Given the description of an element on the screen output the (x, y) to click on. 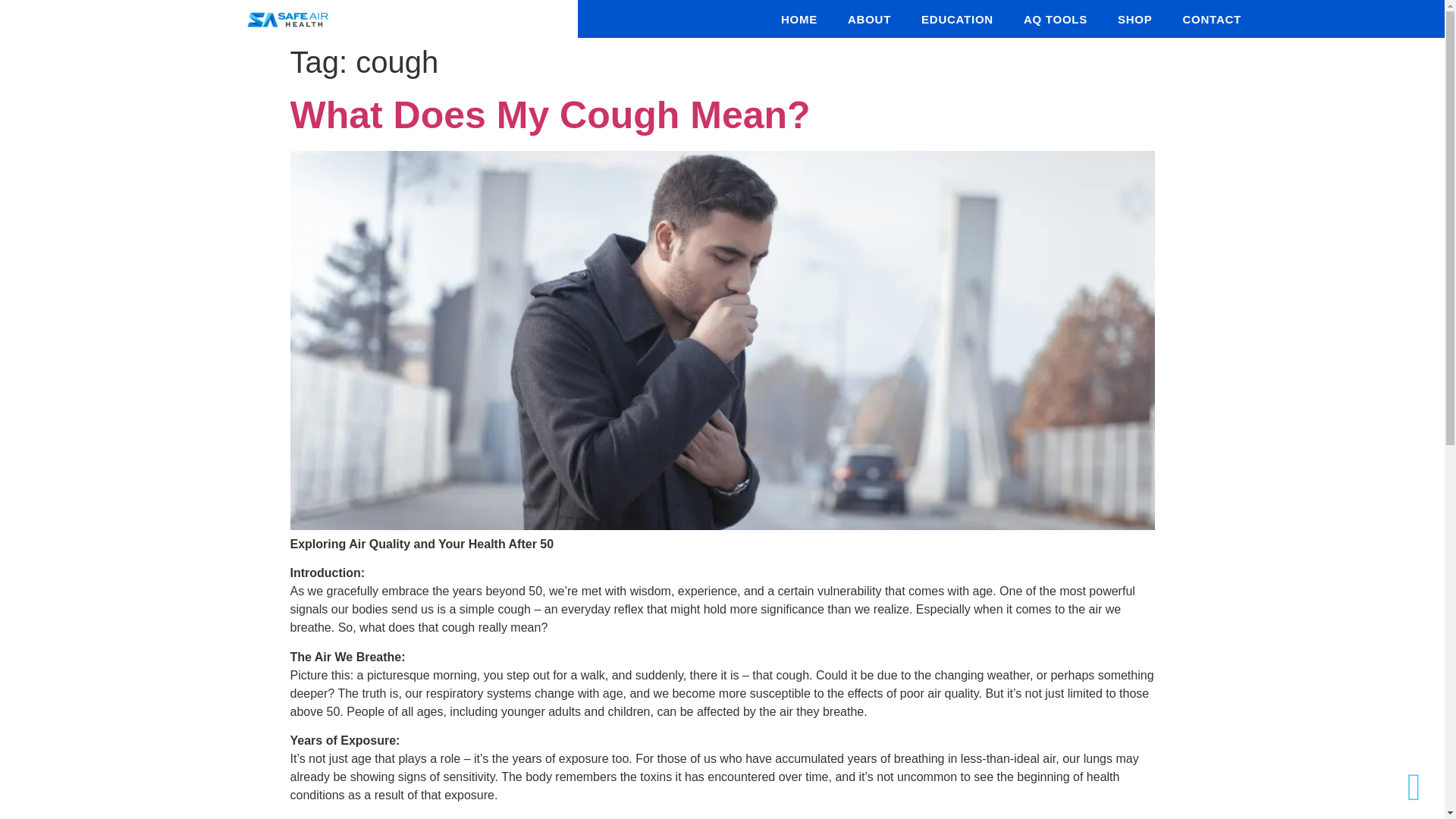
EDUCATION (956, 18)
SHOP (1135, 18)
ABOUT (869, 18)
AQ TOOLS (1055, 18)
HOME (798, 18)
CONTACT (1211, 18)
